Given the description of an element on the screen output the (x, y) to click on. 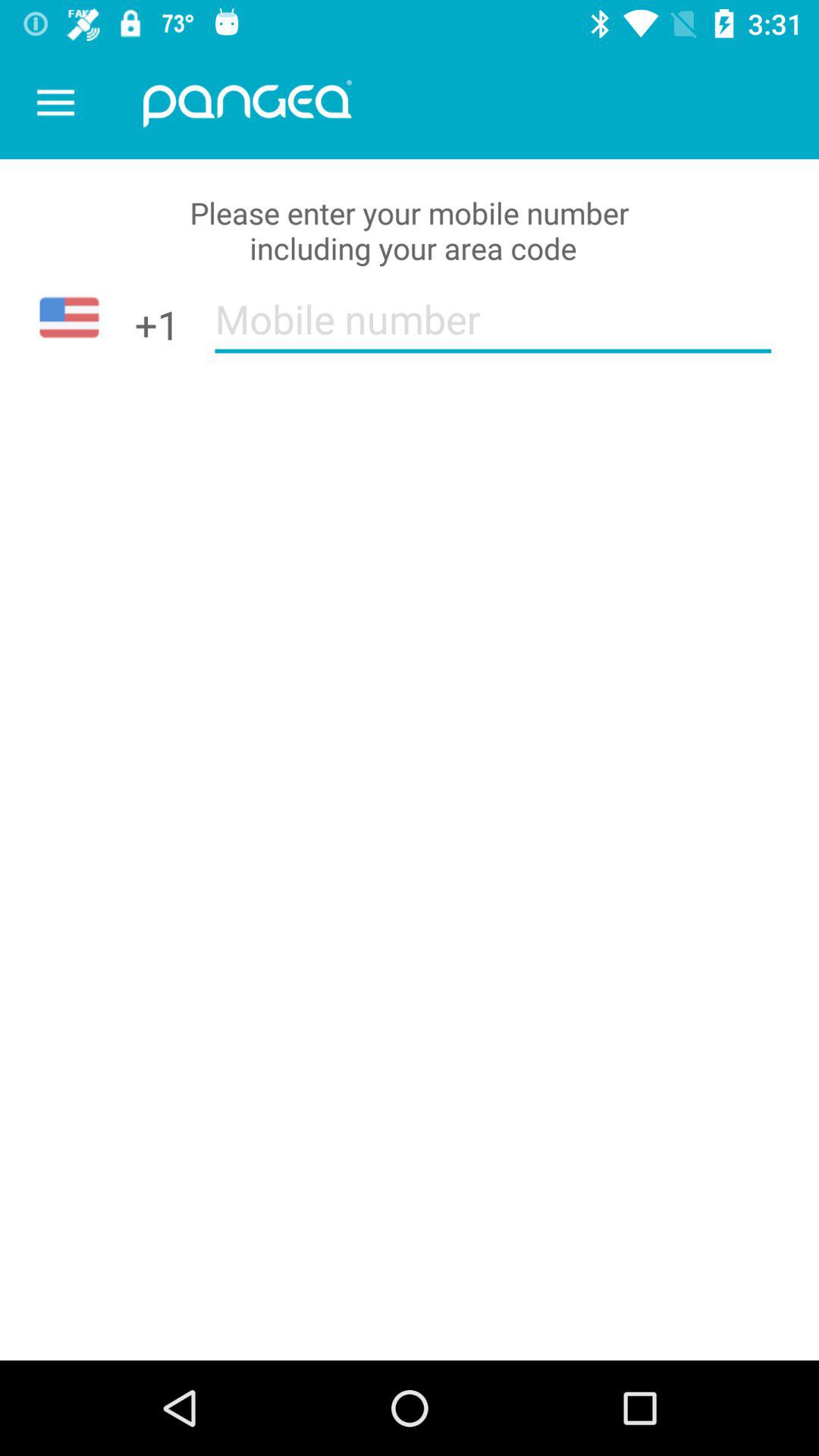
turn off the item to the right of +1 (493, 329)
